Given the description of an element on the screen output the (x, y) to click on. 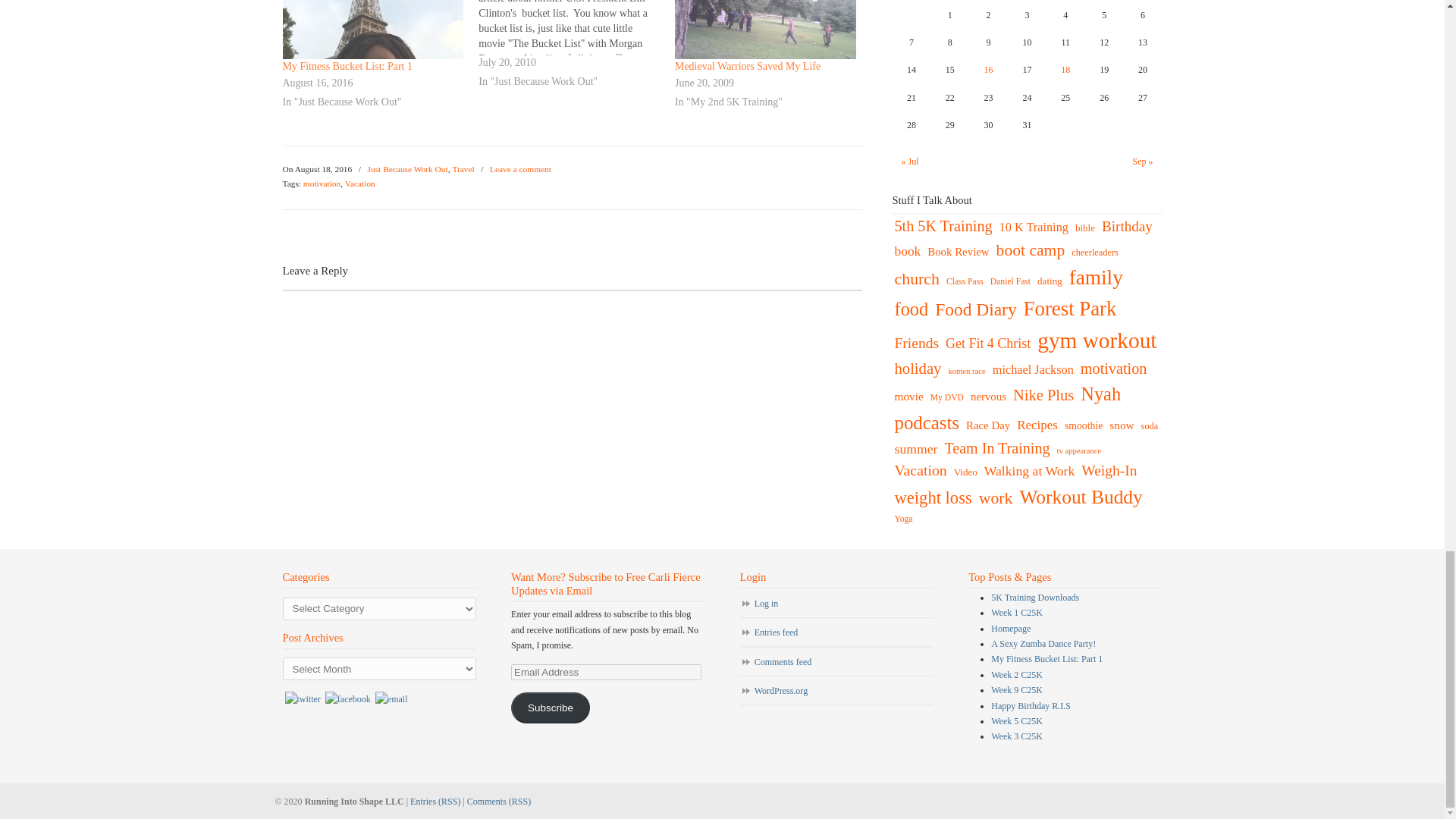
My Fitness Bucket List:  Part 1 (372, 29)
My Bucket List (577, 46)
My Fitness Bucket List:  Part 1 (347, 66)
